Given the description of an element on the screen output the (x, y) to click on. 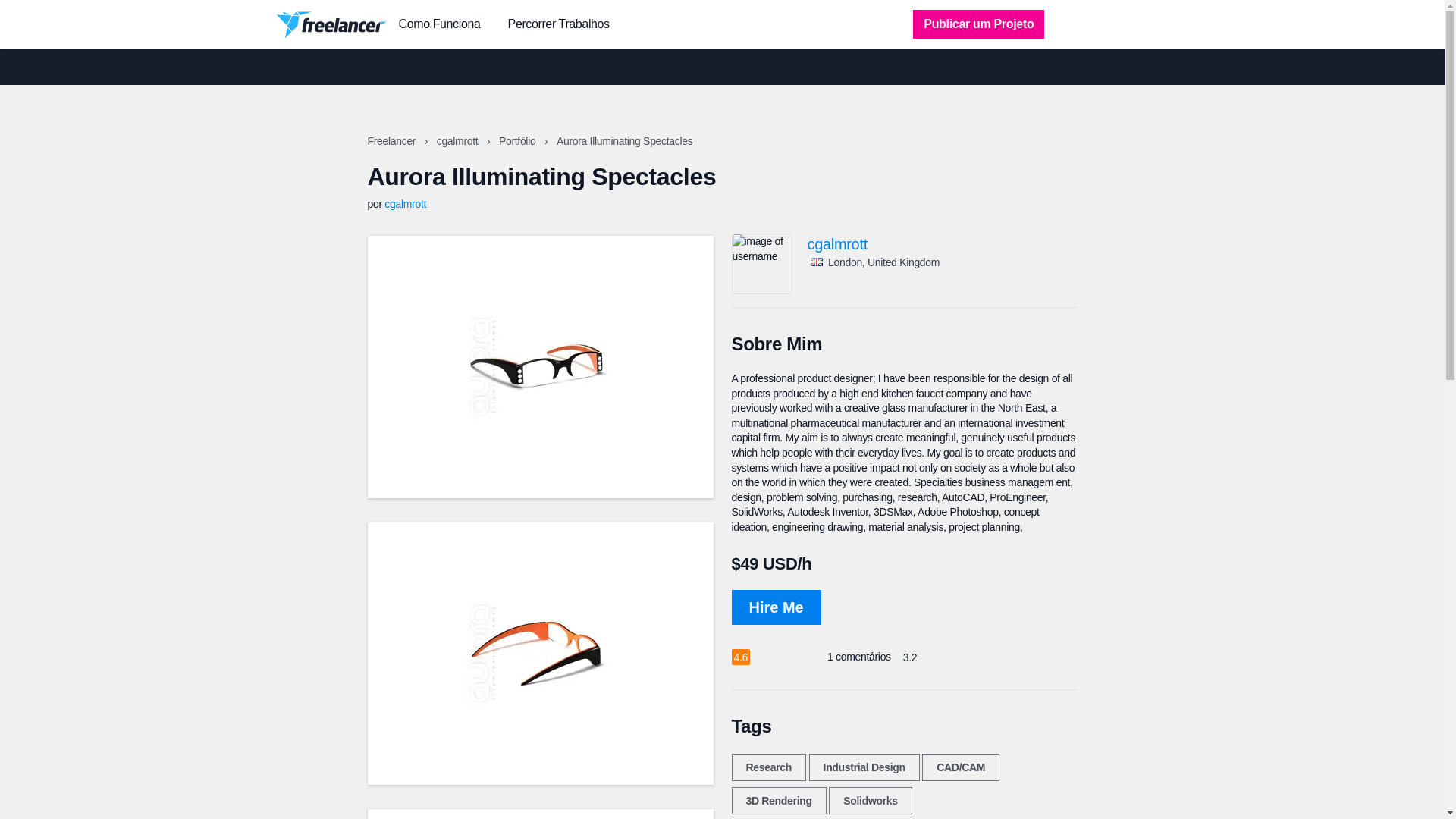
cgalmrott (405, 203)
Industrial Design (864, 767)
Solidworks (869, 800)
3D Rendering (777, 800)
Research (767, 767)
Hire Me (775, 606)
Flag of United Kingdom (815, 261)
Percorrer Trabalhos (559, 24)
cgalmrott (941, 243)
Publicar um Projeto (977, 23)
cgalmrott (458, 141)
Como Funciona (439, 24)
Freelancer (391, 141)
